Given the description of an element on the screen output the (x, y) to click on. 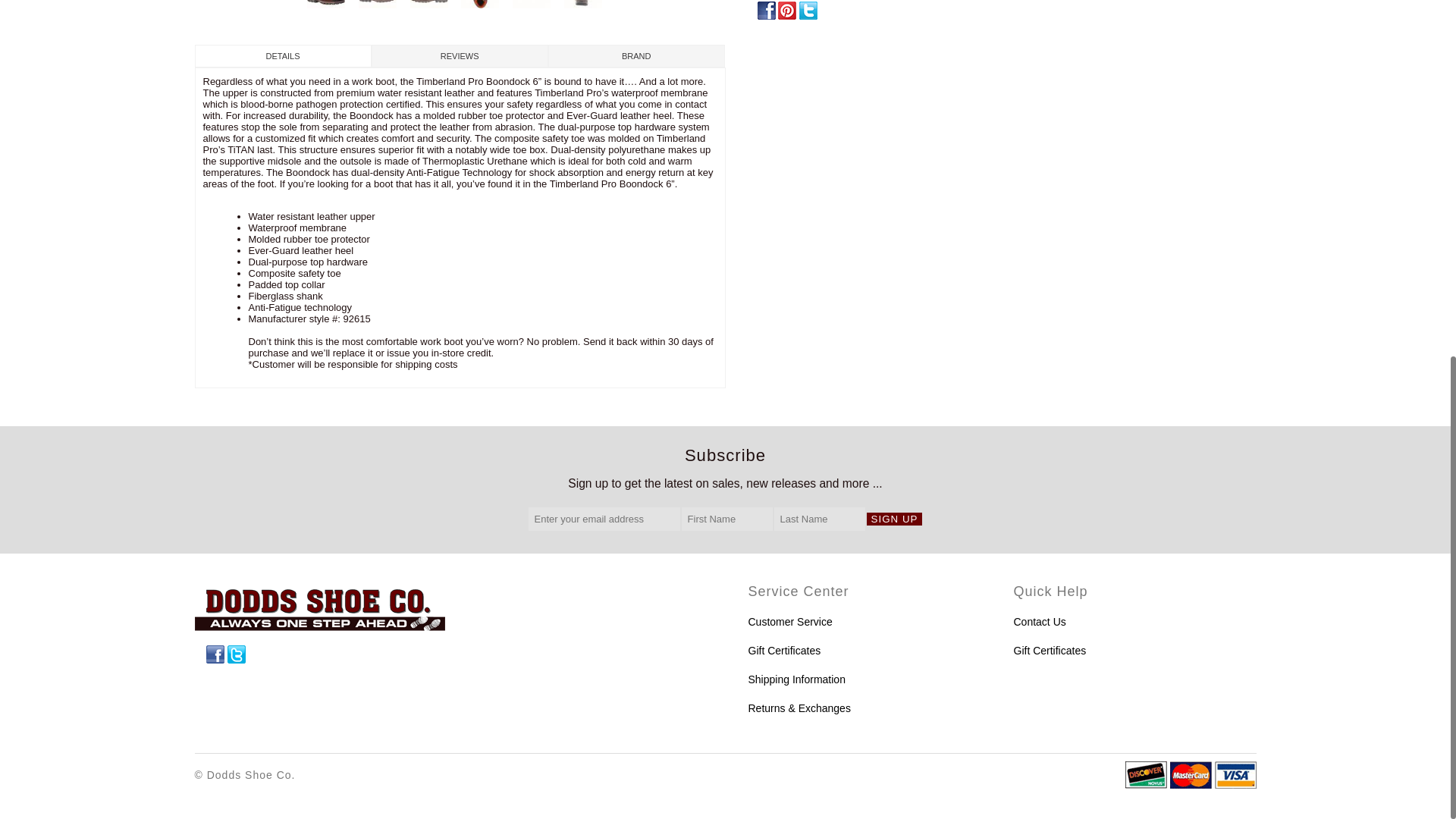
Sign Up (894, 518)
